Given the description of an element on the screen output the (x, y) to click on. 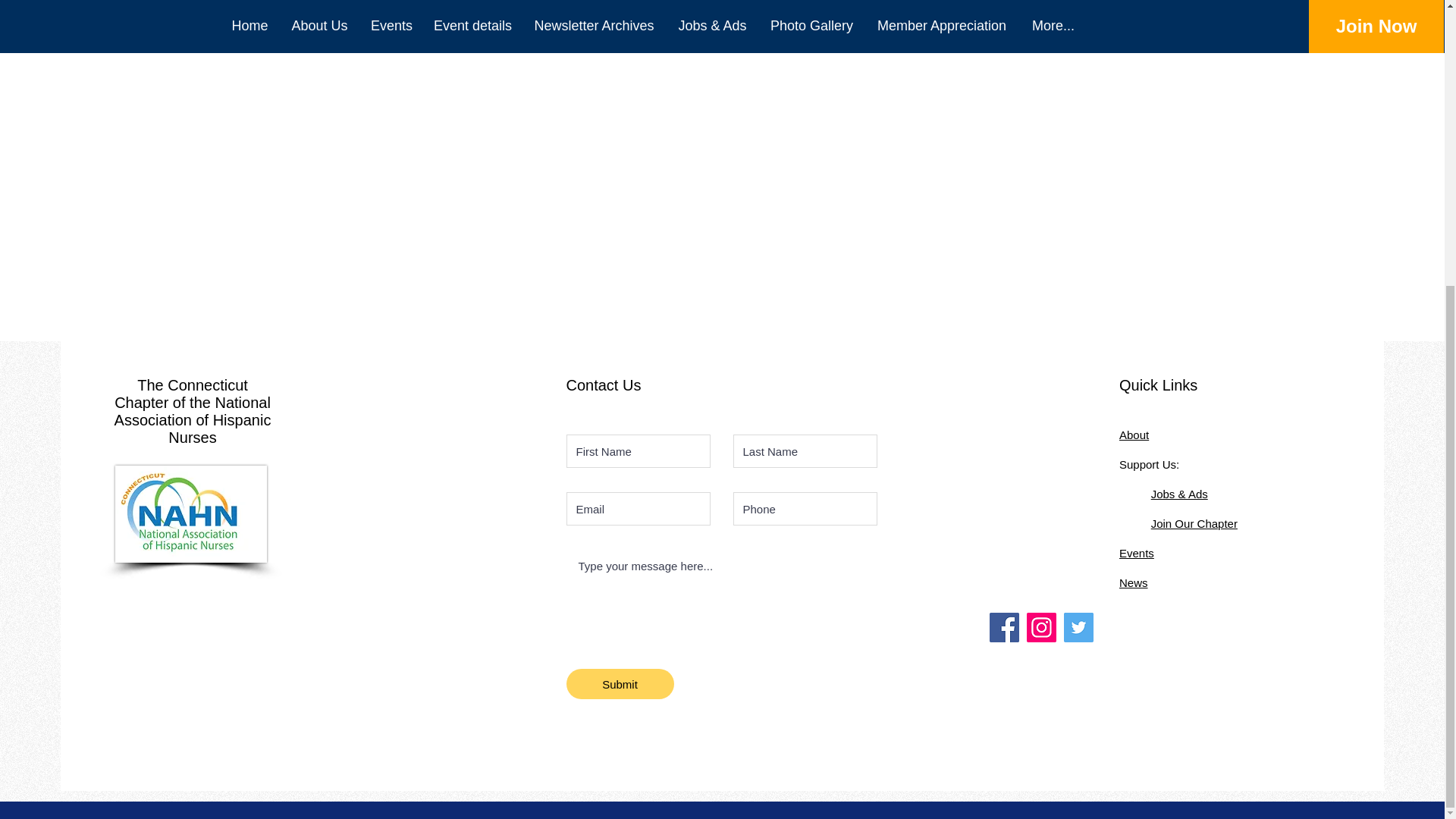
About (1133, 434)
Submit (619, 684)
CT NAHN Logo.jpg (190, 514)
Join Our Chapter (1194, 522)
News (1133, 582)
Events (1136, 553)
